Given the description of an element on the screen output the (x, y) to click on. 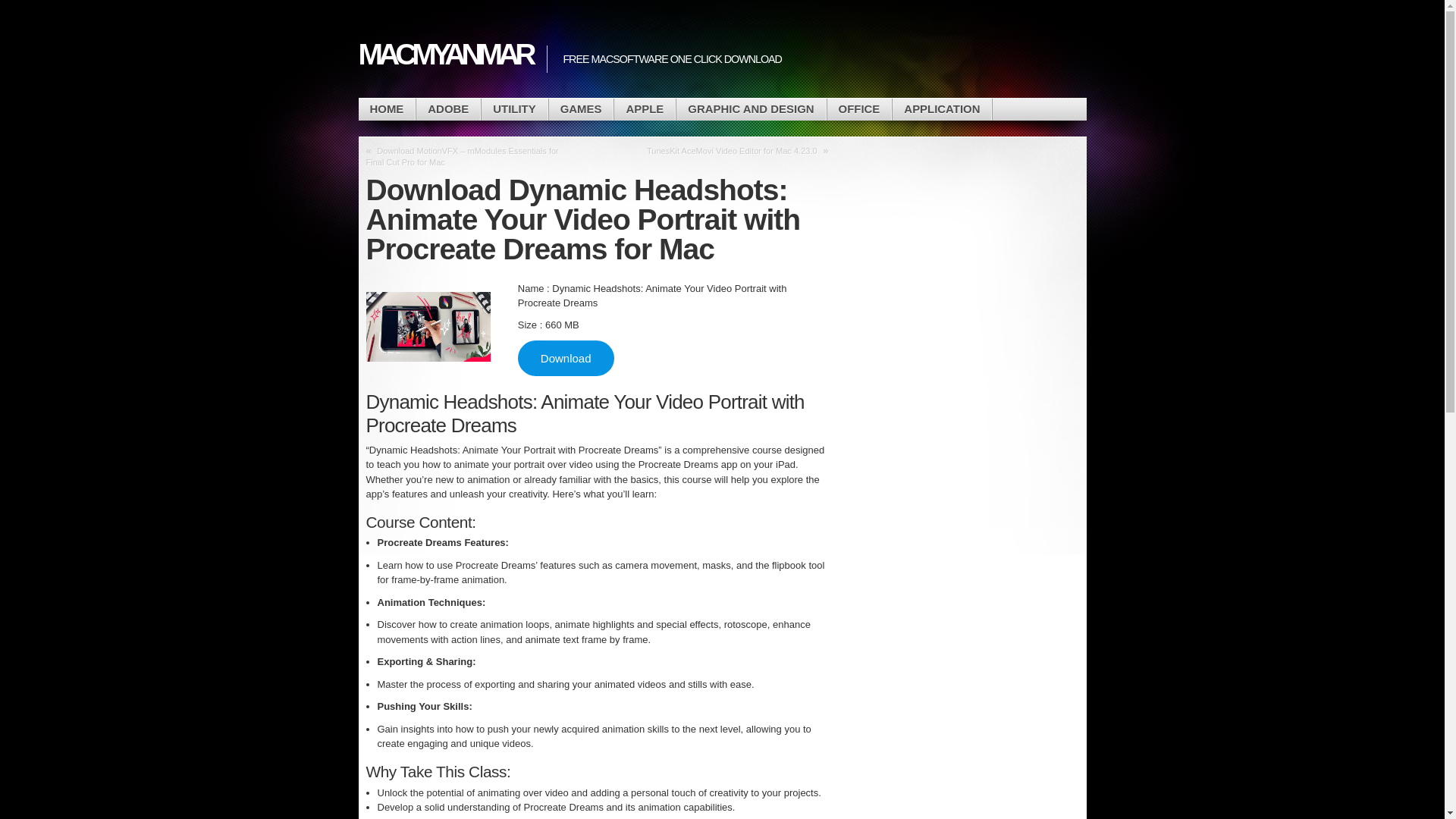
ADOBE (448, 109)
OFFICE (859, 109)
TunesKit AceMovi Video Editor for Mac 4.23.0 (732, 150)
APPLICATION (941, 109)
GRAPHIC AND DESIGN (751, 109)
UTILITY (514, 109)
Download (566, 357)
HOME (386, 109)
GAMES (580, 109)
APPLE (644, 109)
MACMYANMAR (444, 54)
